Given the description of an element on the screen output the (x, y) to click on. 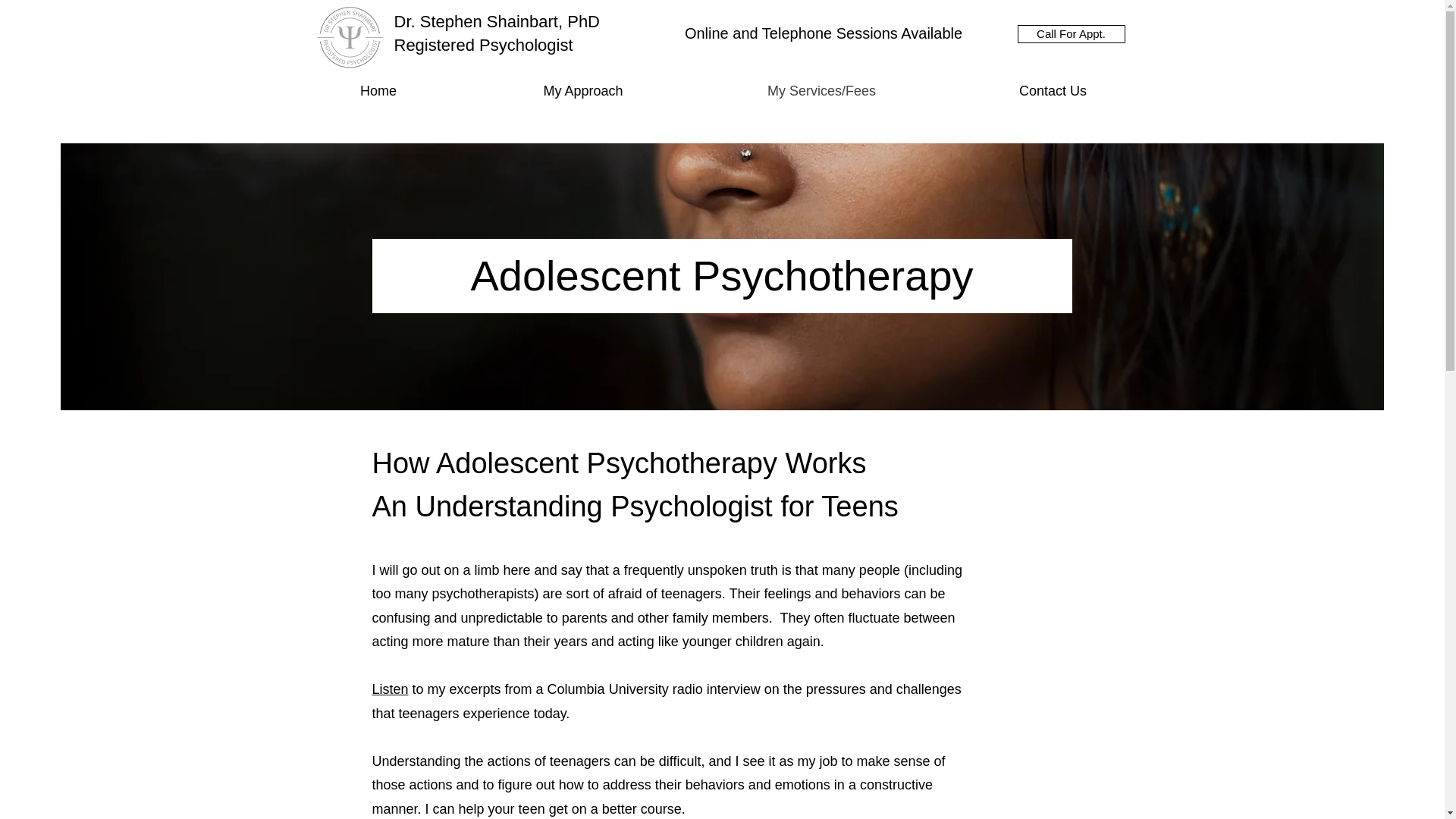
Contact Us (1052, 89)
Home (377, 89)
Call For Appt. (1071, 34)
Listen (389, 688)
Dr. Stephen Shainbart, PhD (496, 21)
